Given the description of an element on the screen output the (x, y) to click on. 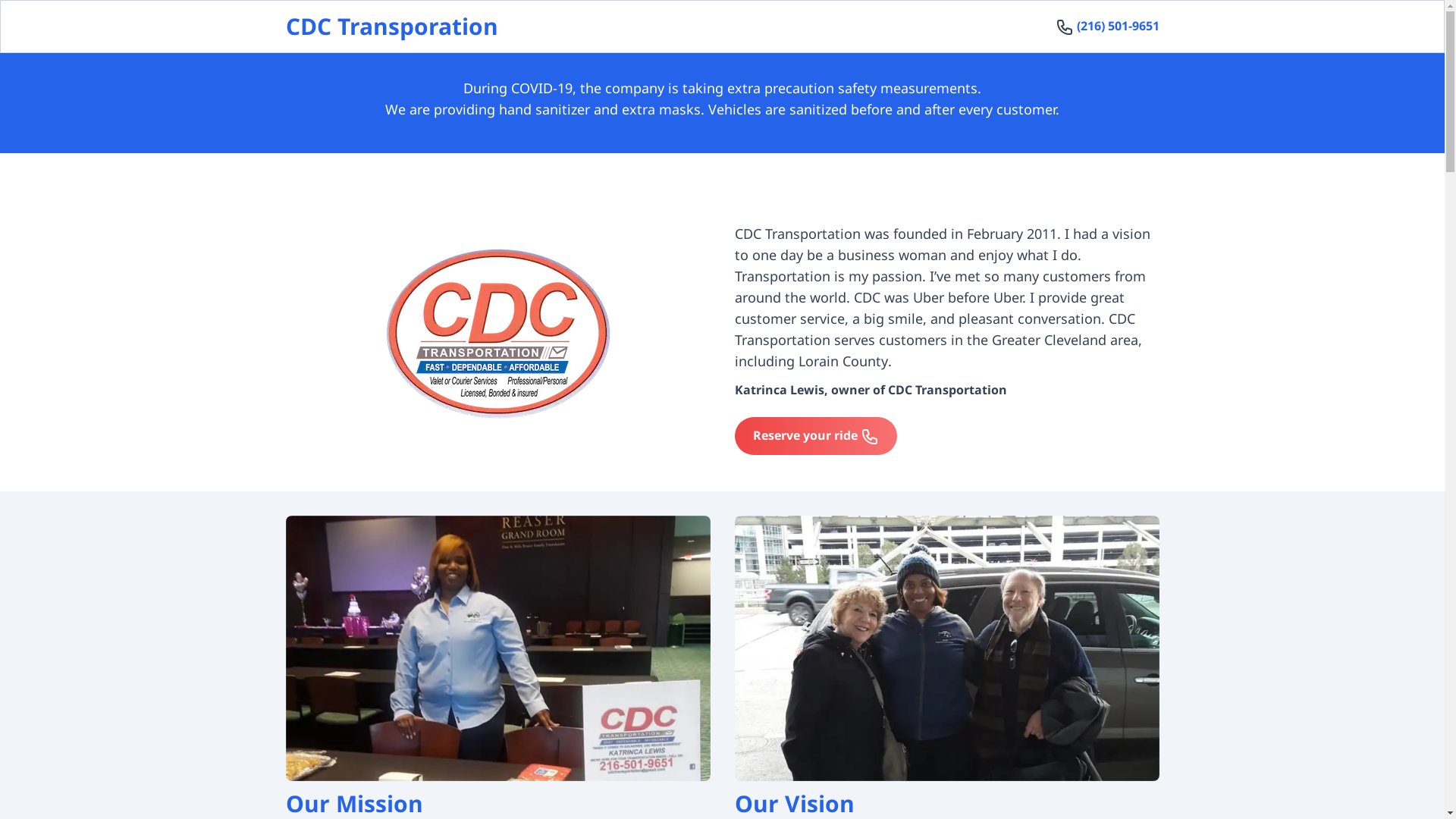
Reserve your ride Element type: text (815, 436)
Reserve your ride Element type: text (815, 434)
(216) 501-9651 Element type: text (1117, 25)
